Given the description of an element on the screen output the (x, y) to click on. 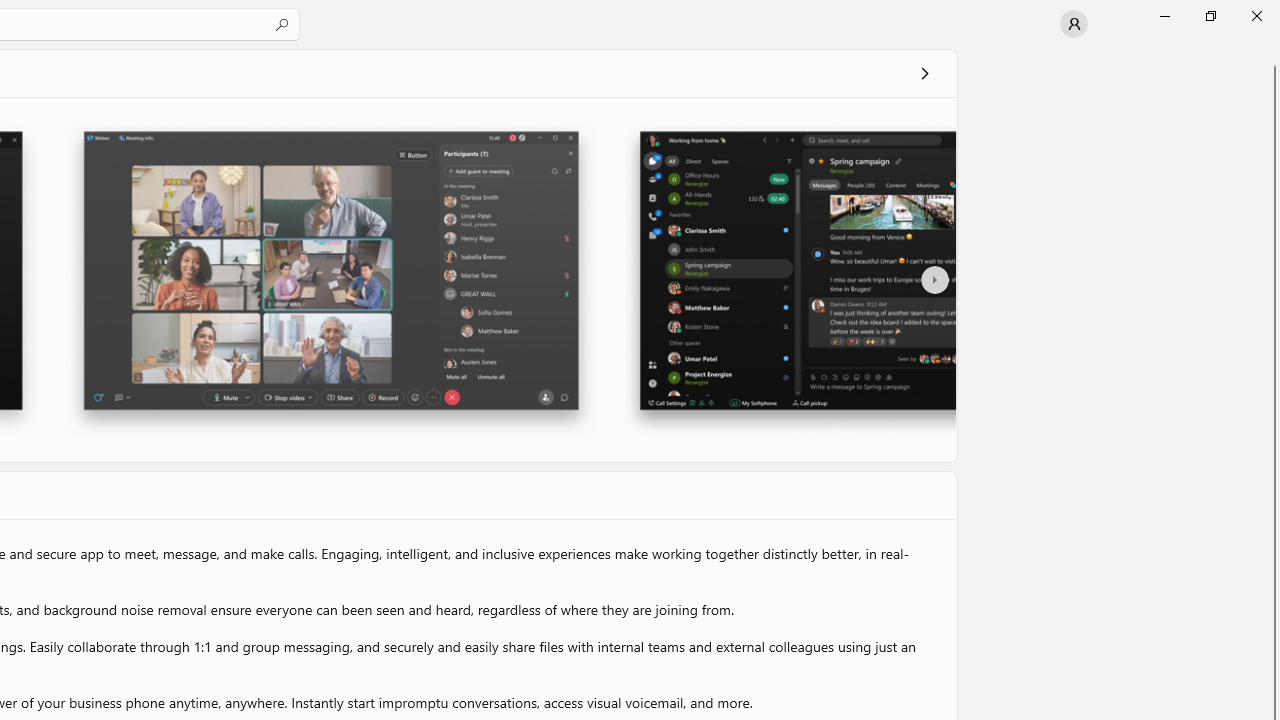
Screenshot 2 (330, 279)
See all (924, 72)
Restore Microsoft Store (1210, 15)
User profile (1073, 24)
Vertical Small Decrease (1272, 55)
Minimize Microsoft Store (1164, 15)
Screenshot 3 (788, 279)
Close Microsoft Store (1256, 15)
